Given the description of an element on the screen output the (x, y) to click on. 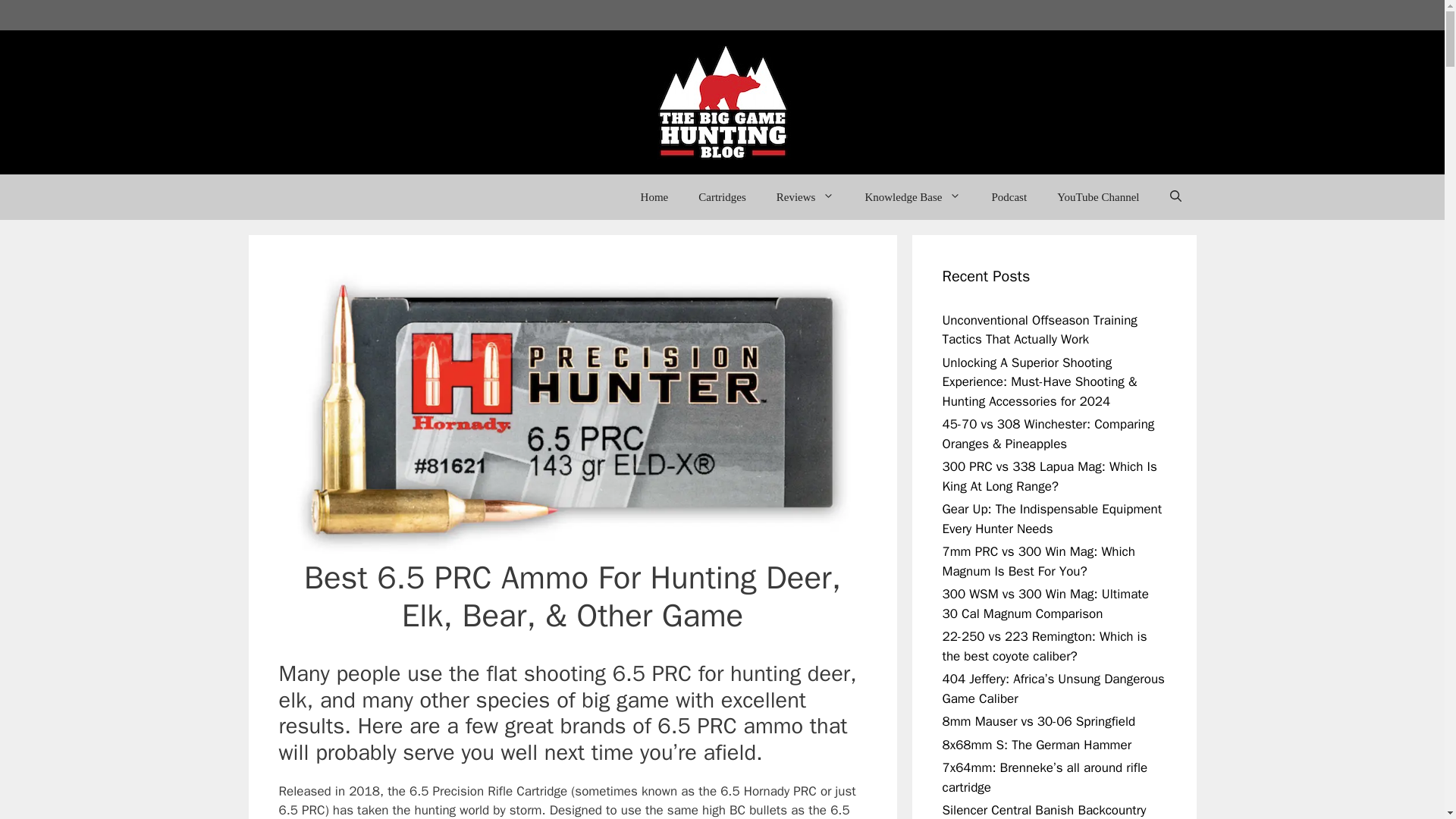
Cartridges (721, 197)
YouTube Channel (1098, 197)
Knowledge Base (911, 197)
Podcast (1008, 197)
Home (655, 197)
Reviews (805, 197)
